Given the description of an element on the screen output the (x, y) to click on. 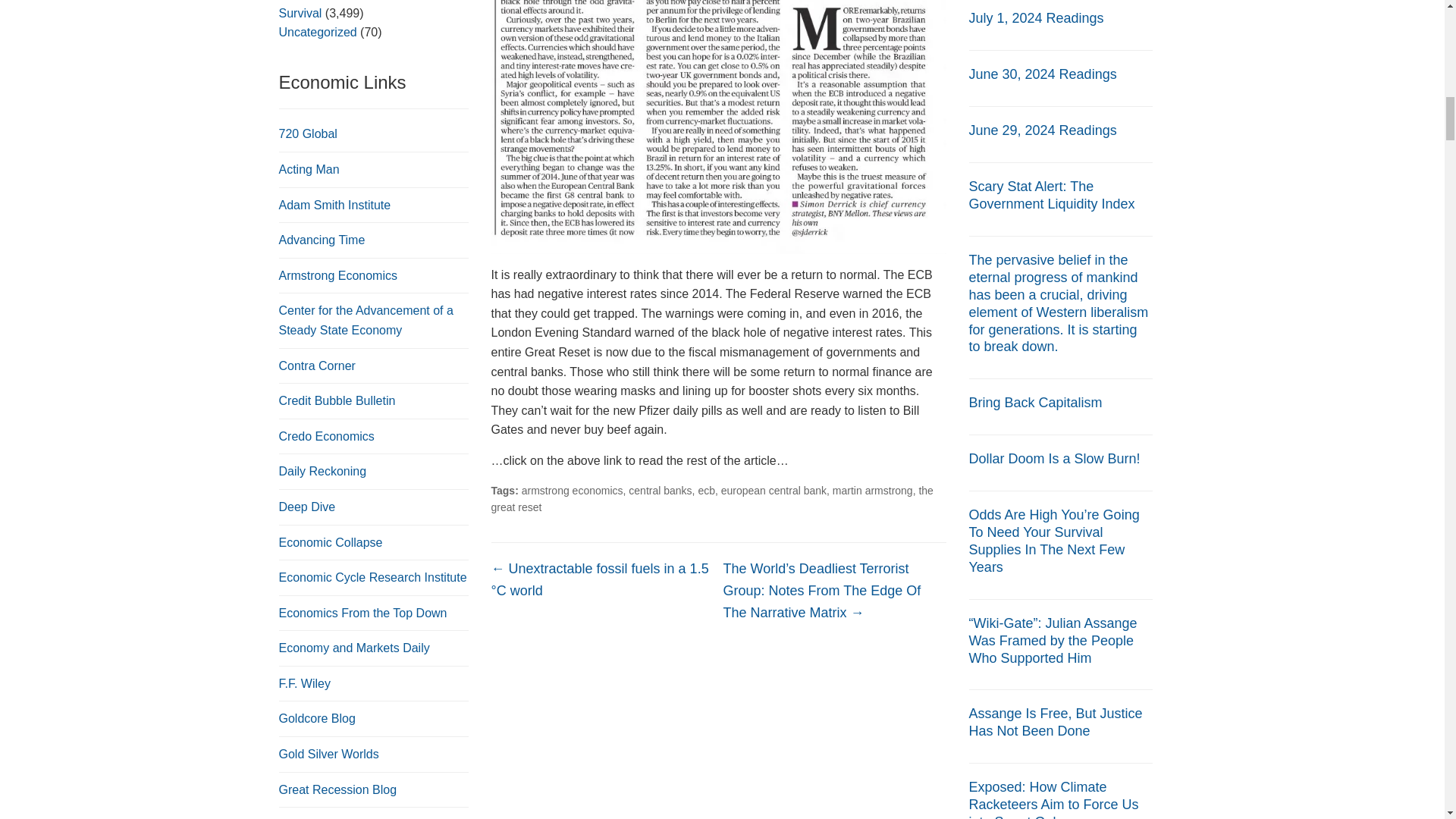
Advancing Time (322, 239)
Economic Collapse (330, 541)
Uncategorized (317, 31)
720 Global (308, 133)
Center for the Advancement of a Steady State Economy (365, 319)
Armstrong Economics (338, 275)
Contra Corner (317, 365)
Adam Smith Institute (335, 205)
Credo Economics (326, 436)
Economic Cycle Research Institute (373, 576)
